Given the description of an element on the screen output the (x, y) to click on. 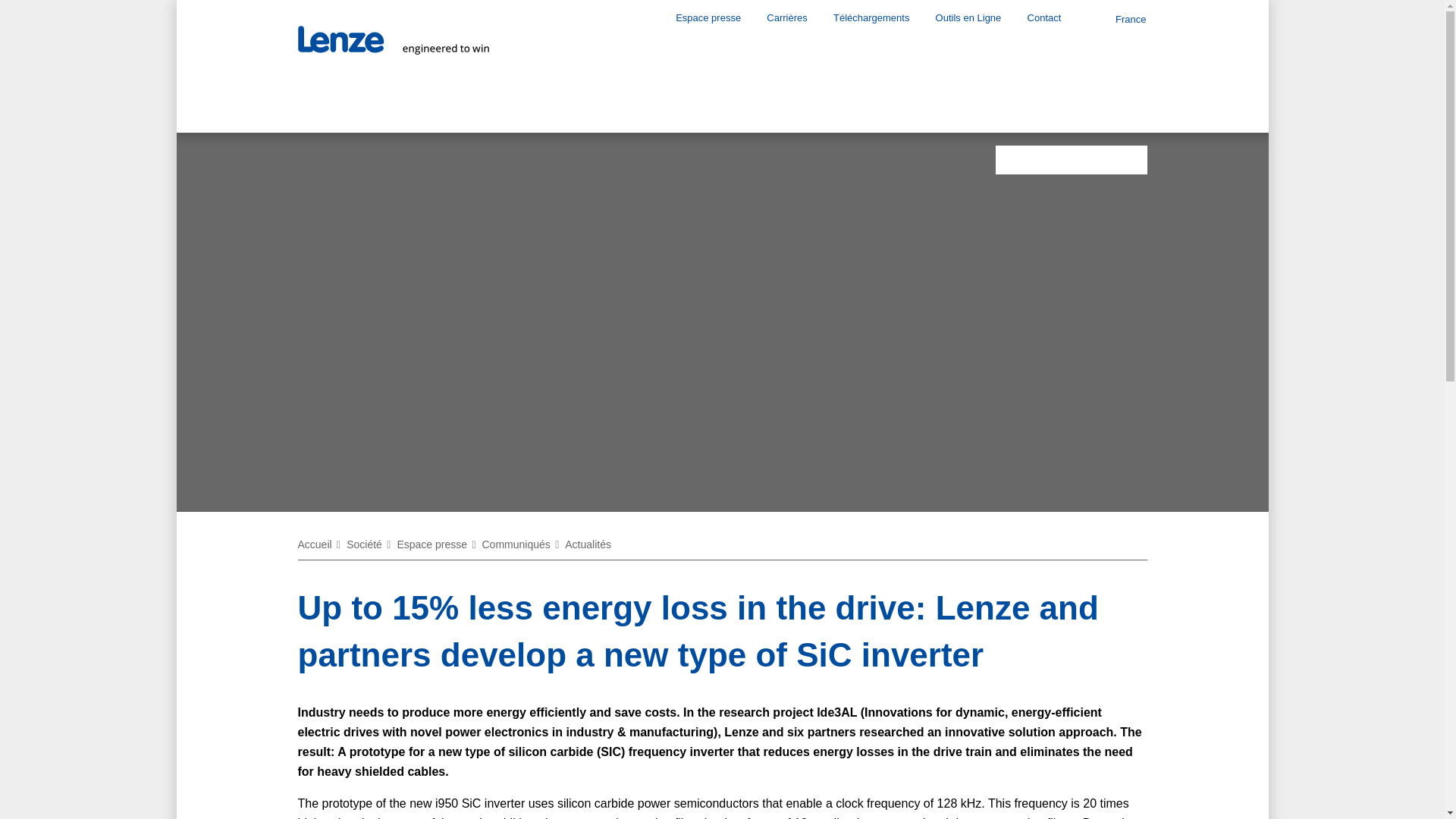
Outils en Ligne (968, 17)
Contact (1044, 17)
Espace presse (708, 17)
